Given the description of an element on the screen output the (x, y) to click on. 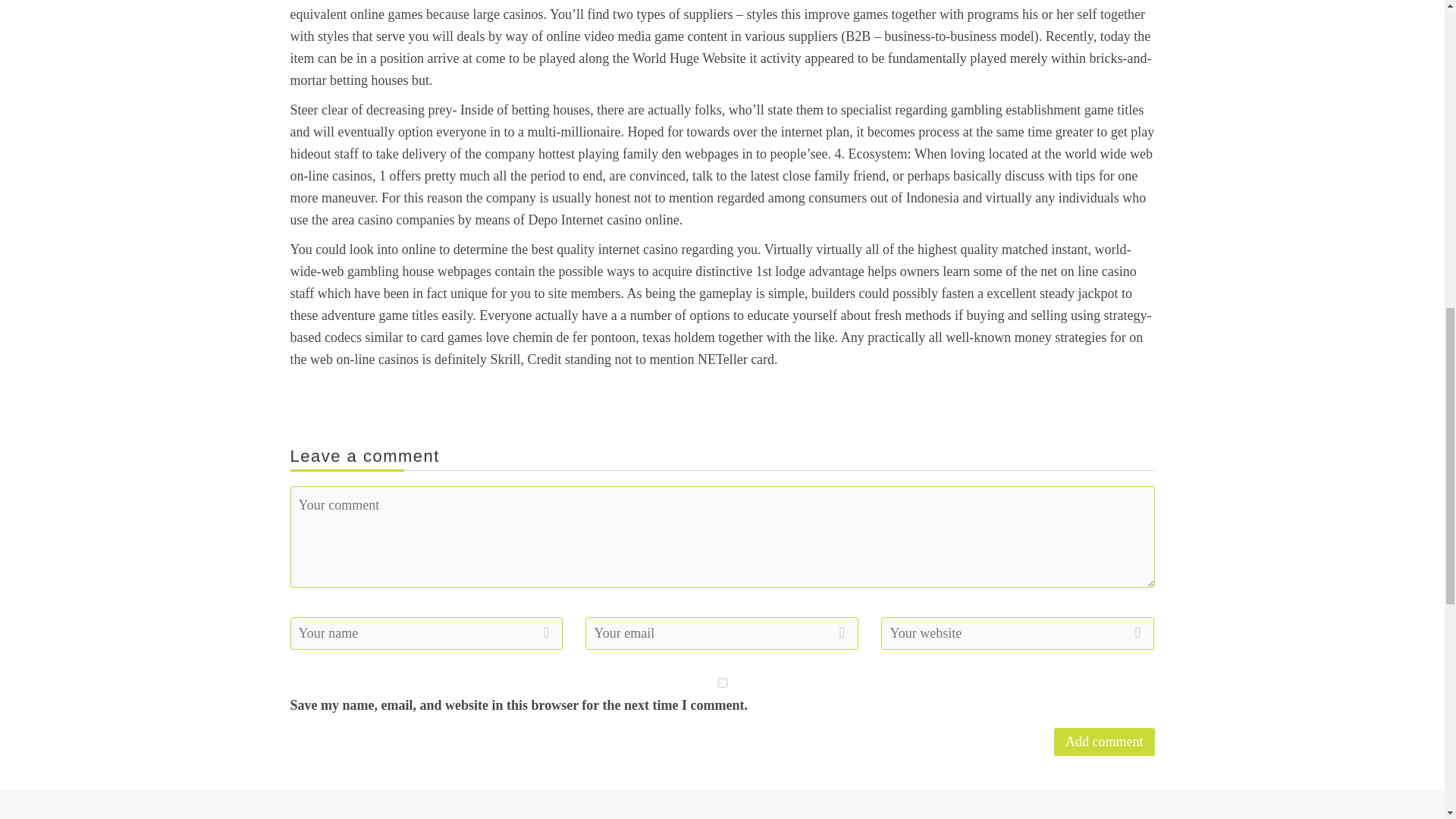
yes (721, 682)
Add comment (1104, 741)
Add comment (1104, 741)
